Given the description of an element on the screen output the (x, y) to click on. 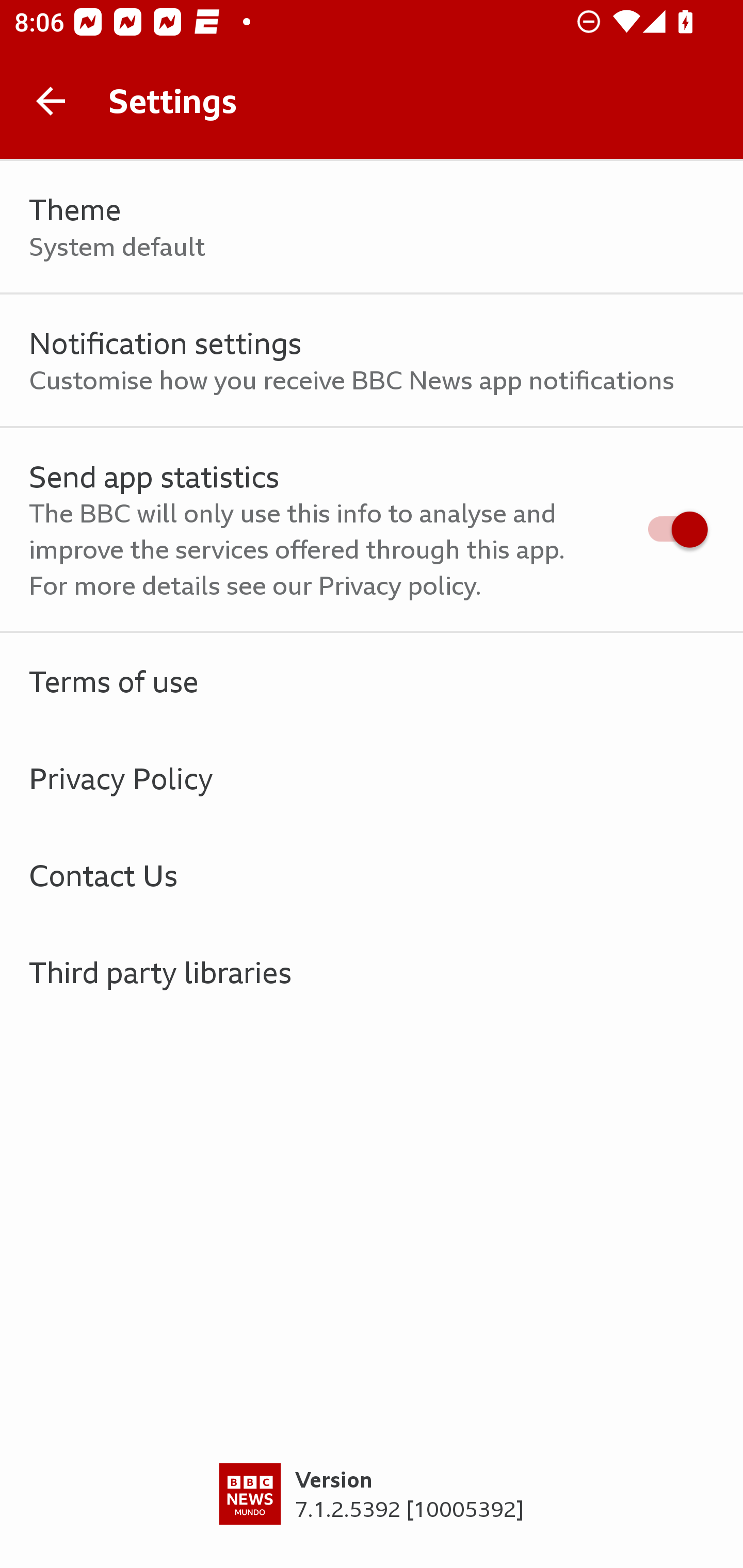
Back (50, 101)
Theme System default (371, 227)
Terms of use (371, 681)
Privacy Policy (371, 777)
Contact Us (371, 874)
Third party libraries (371, 971)
Version 7.1.2.5392 [10005392] (371, 1515)
